Given the description of an element on the screen output the (x, y) to click on. 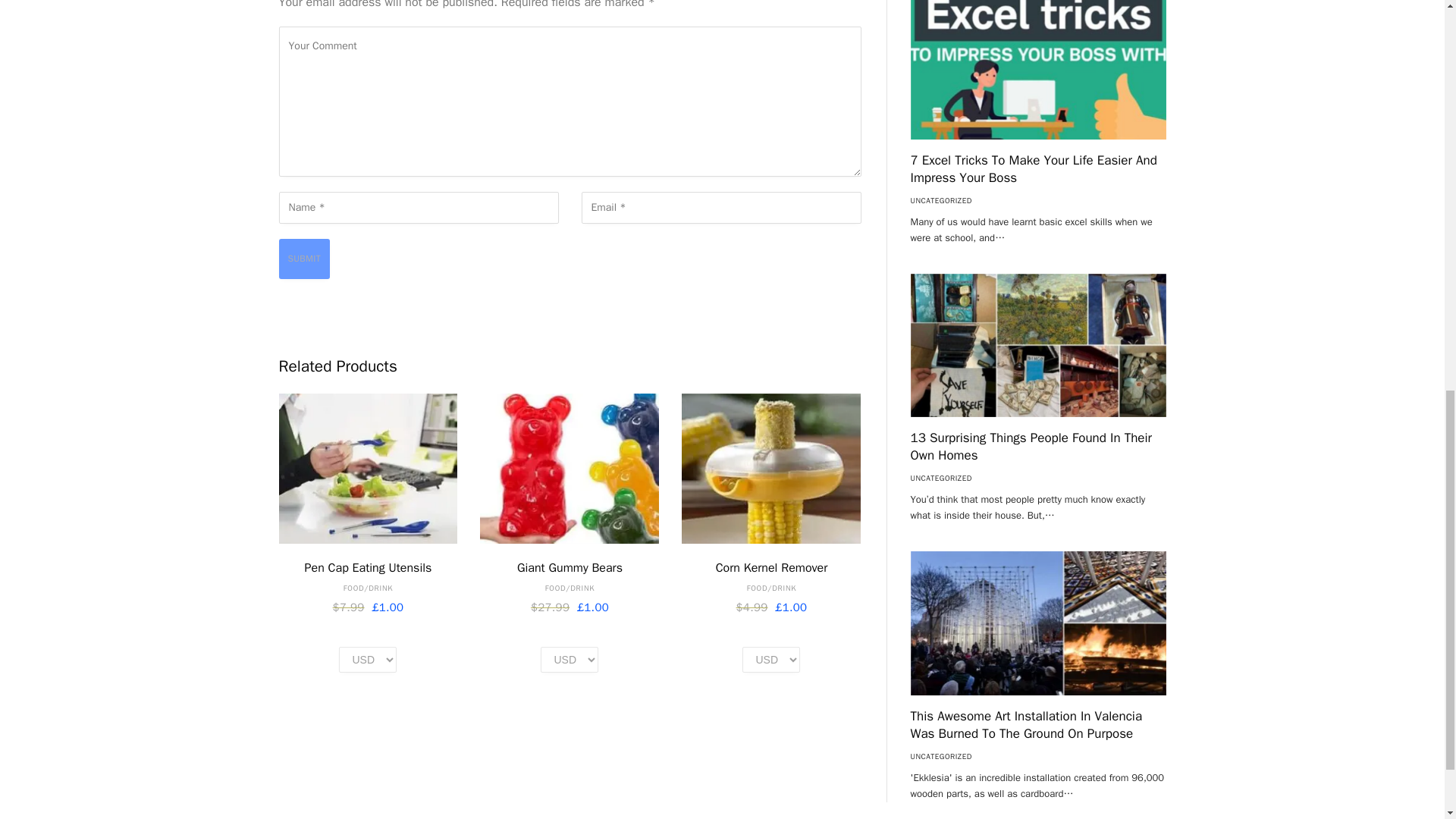
Select one (770, 659)
Select one (569, 659)
Submit (304, 259)
Select one (367, 659)
